Given the description of an element on the screen output the (x, y) to click on. 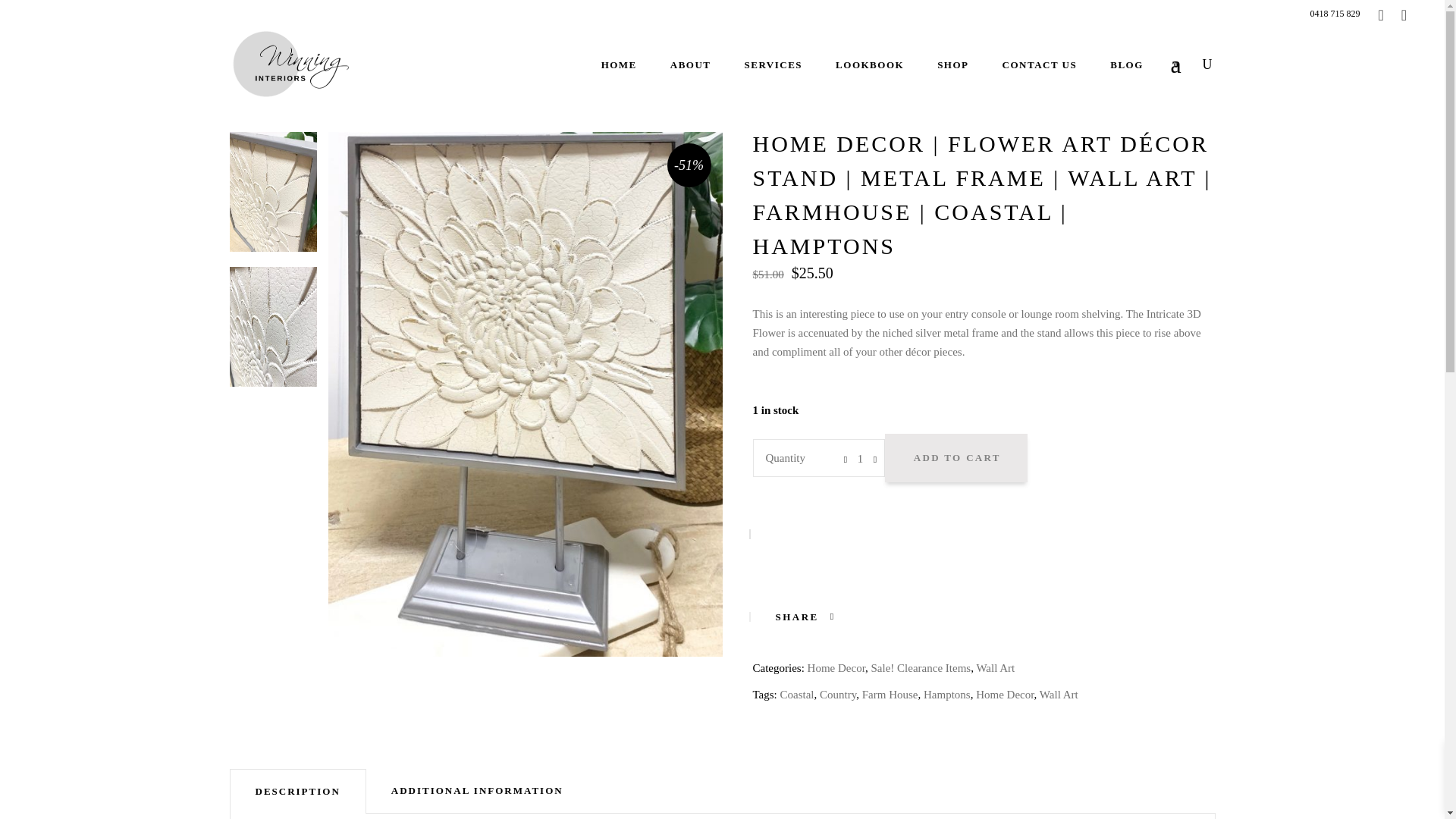
0418 715 829 (1333, 12)
SERVICES (773, 64)
LOOKBOOK (869, 64)
PayPal Message 1 (983, 532)
HOME (619, 64)
SHOP (952, 64)
1 (860, 458)
PayPal (983, 578)
ABOUT (690, 64)
8b - Flower Art on Stand (271, 326)
Qty (860, 458)
8a - Flower Art on Stand (271, 191)
